Given the description of an element on the screen output the (x, y) to click on. 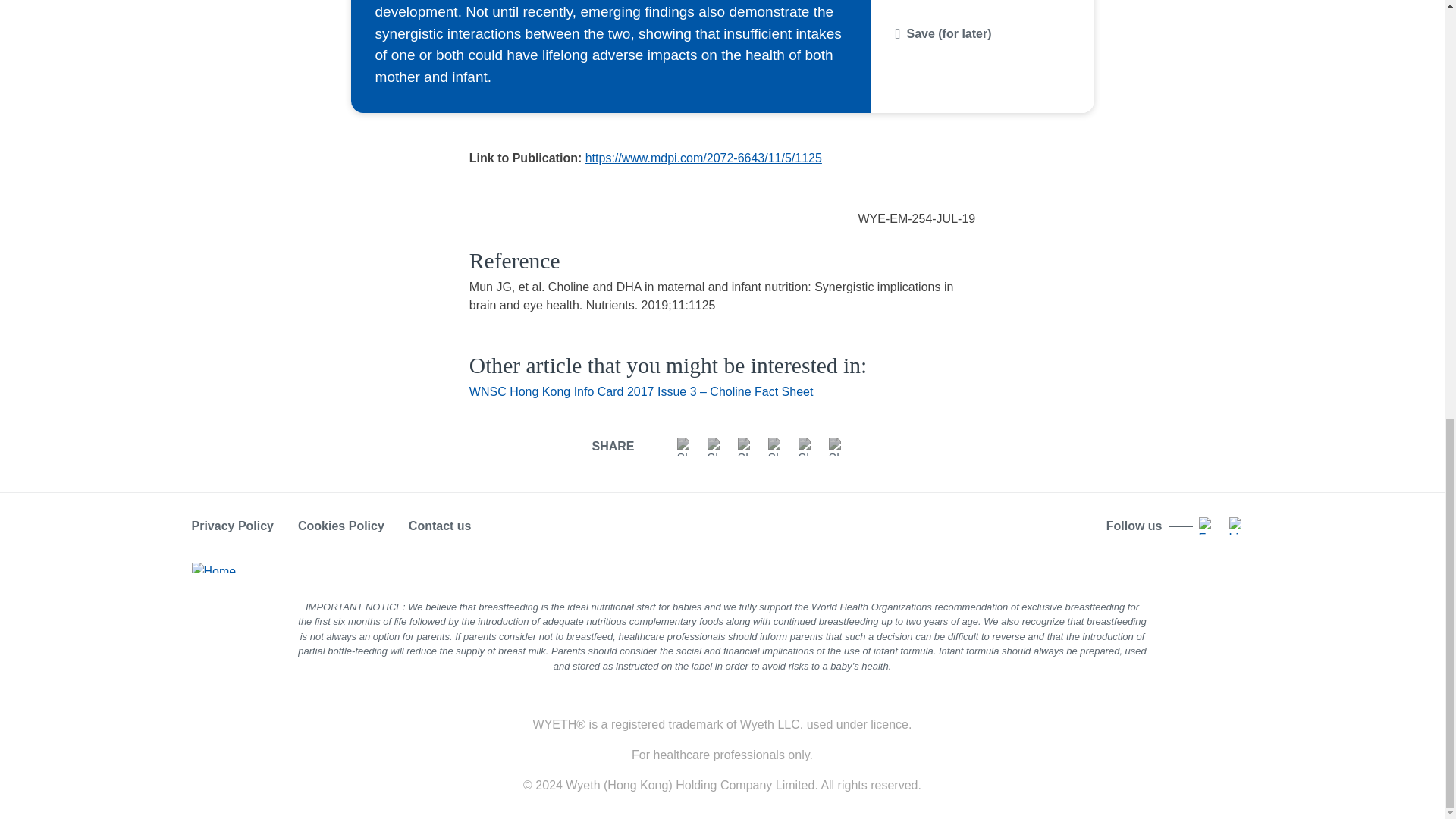
Twitter (745, 446)
Facebook (685, 446)
Linkedin (1237, 525)
Tumblr (806, 446)
Linkedin (715, 446)
Email (776, 446)
Pin it (836, 446)
Facebook (1206, 525)
Home (212, 566)
